Given the description of an element on the screen output the (x, y) to click on. 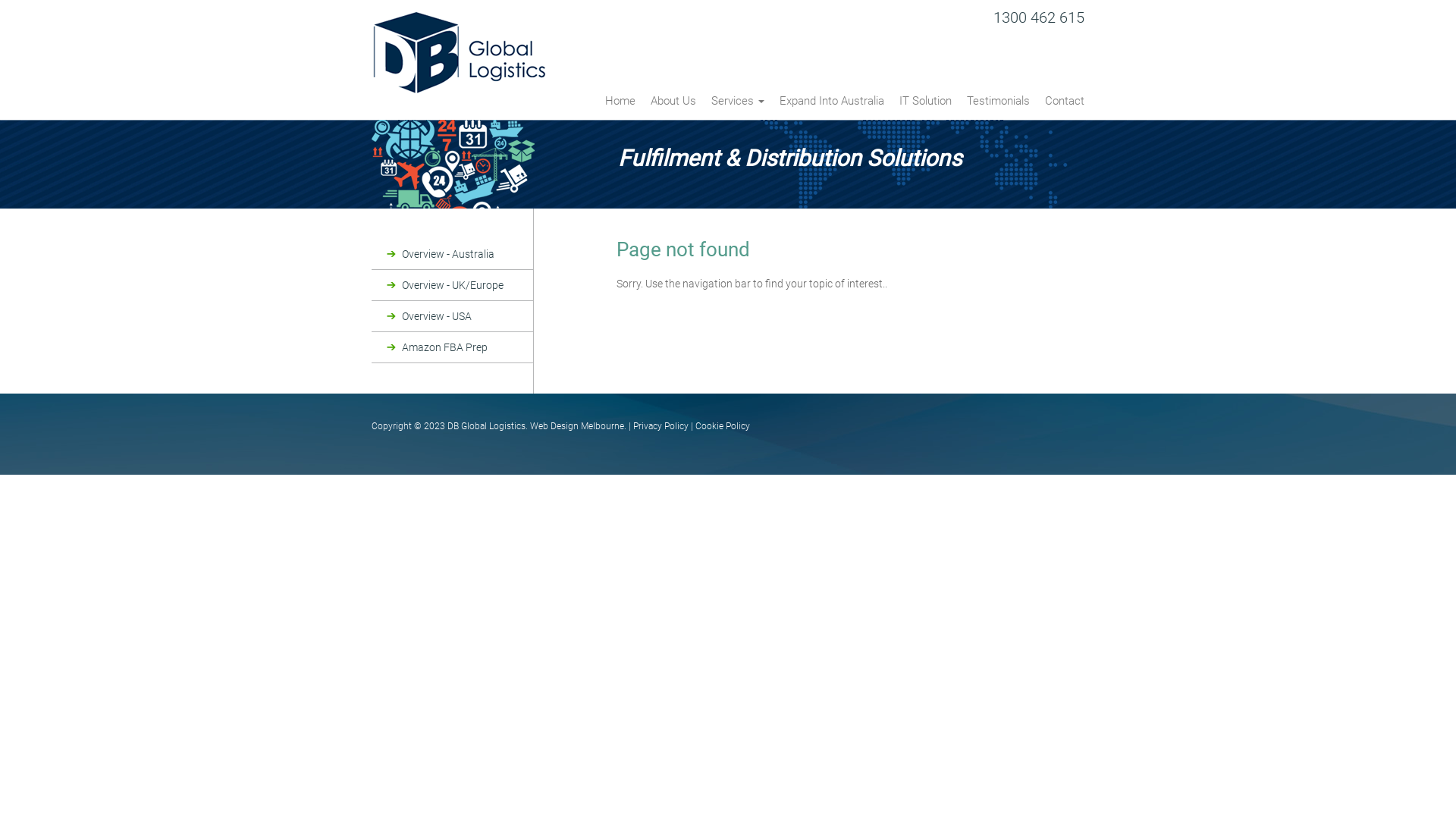
Amazon FBA Prep Element type: text (452, 347)
Overview - USA Element type: text (452, 316)
Overview - Australia Element type: text (452, 253)
IT Solution Element type: text (925, 106)
Web Design Melbourne Element type: text (577, 425)
Privacy Policy Element type: text (660, 425)
Overview - UK/Europe Element type: text (452, 284)
Contact Element type: text (1060, 106)
Testimonials Element type: text (998, 106)
Services Element type: text (737, 106)
Cookie Policy Element type: text (722, 425)
About Us Element type: text (673, 106)
1300 462 615 Element type: text (1038, 17)
Home Element type: text (620, 106)
Expand Into Australia Element type: text (831, 106)
